Given the description of an element on the screen output the (x, y) to click on. 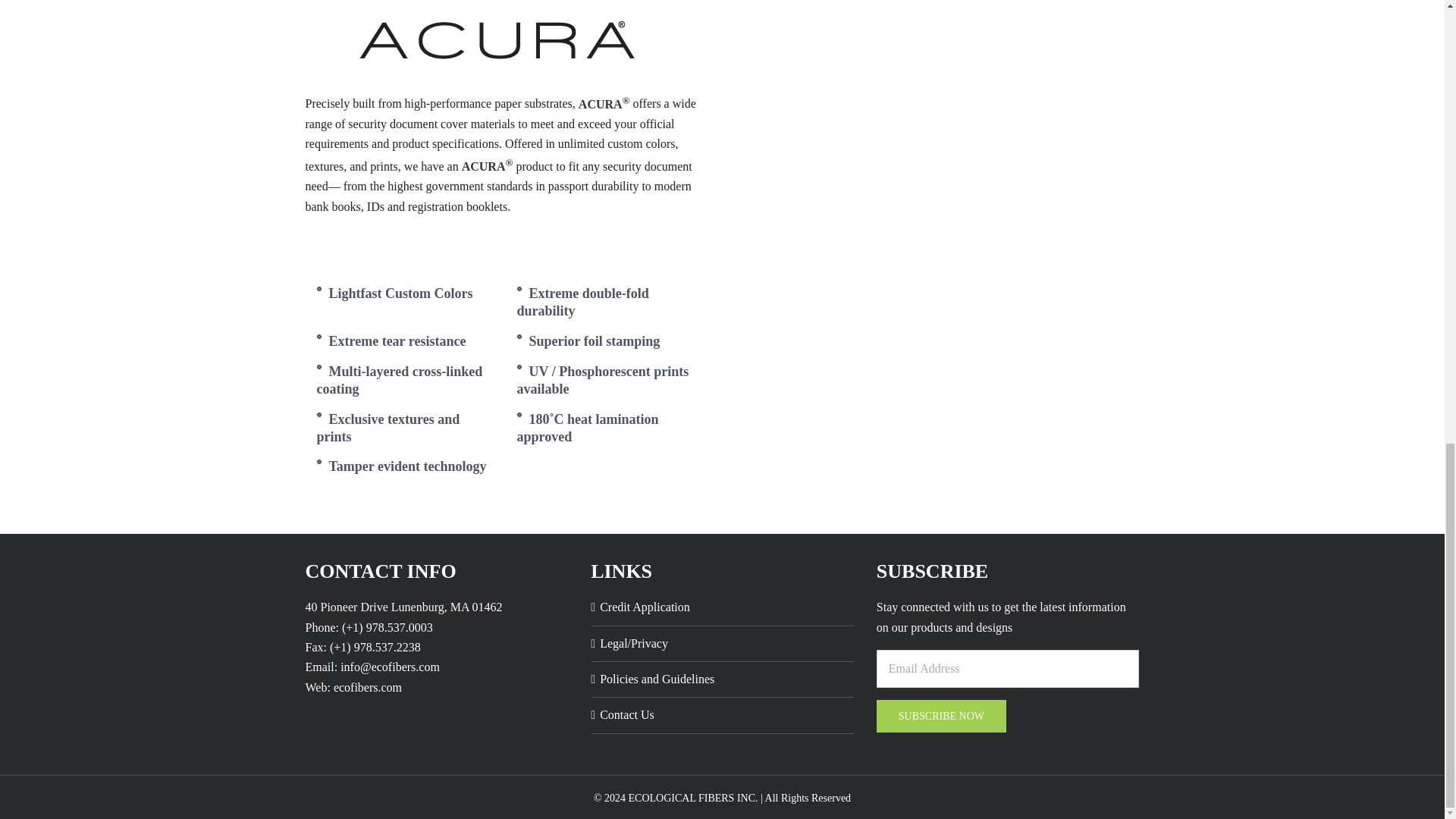
Acura Logo (494, 45)
SUBSCRIBE NOW (941, 716)
